Given the description of an element on the screen output the (x, y) to click on. 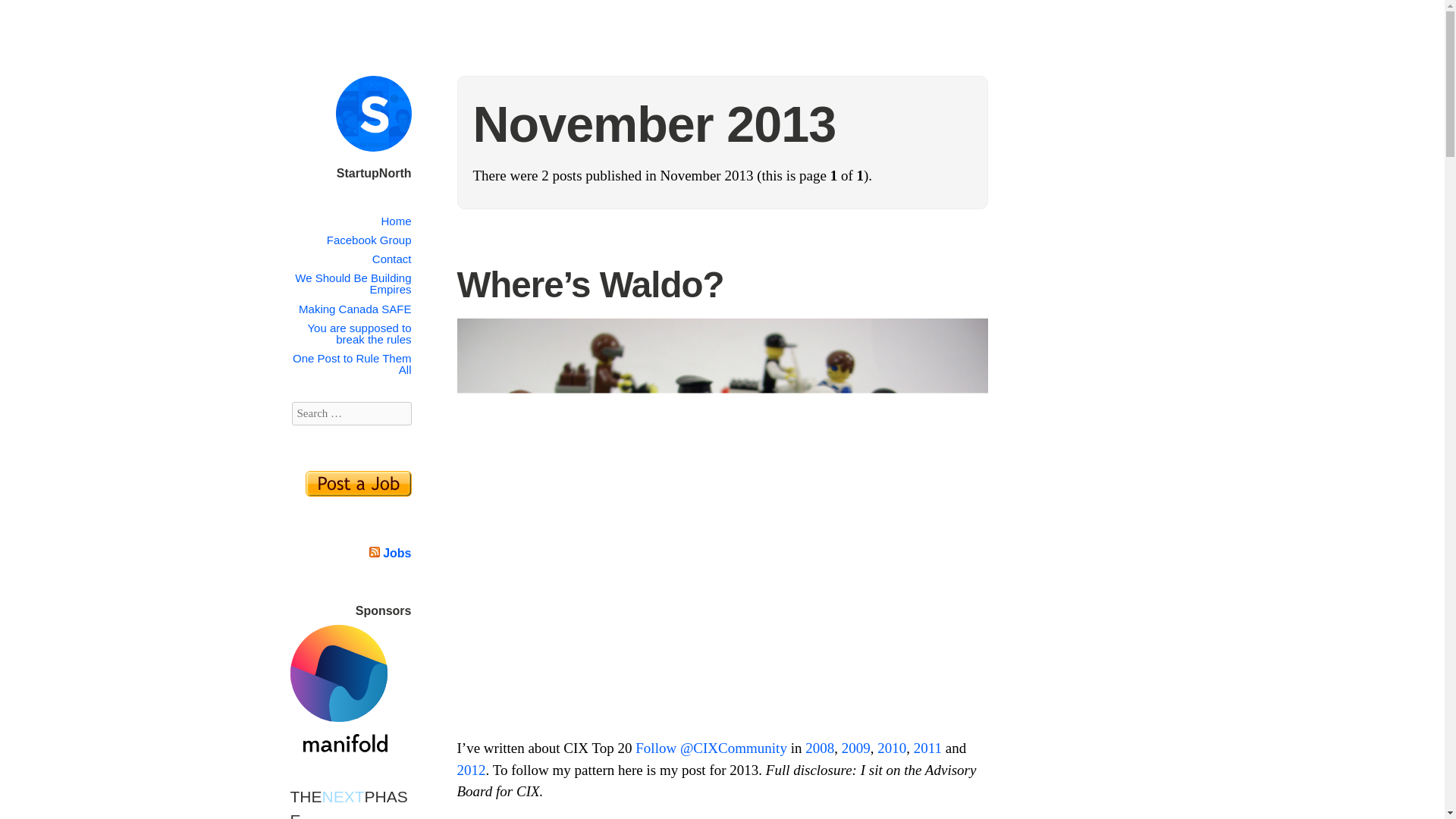
Facebook Group (369, 239)
2009 (855, 747)
You are supposed to break the rules (358, 333)
2012 (470, 769)
2010 (891, 747)
We Should Be Building Empires (352, 283)
StartupNorth (372, 154)
StartupNorth (374, 173)
Manifold (338, 744)
StartupNorth (374, 173)
